Given the description of an element on the screen output the (x, y) to click on. 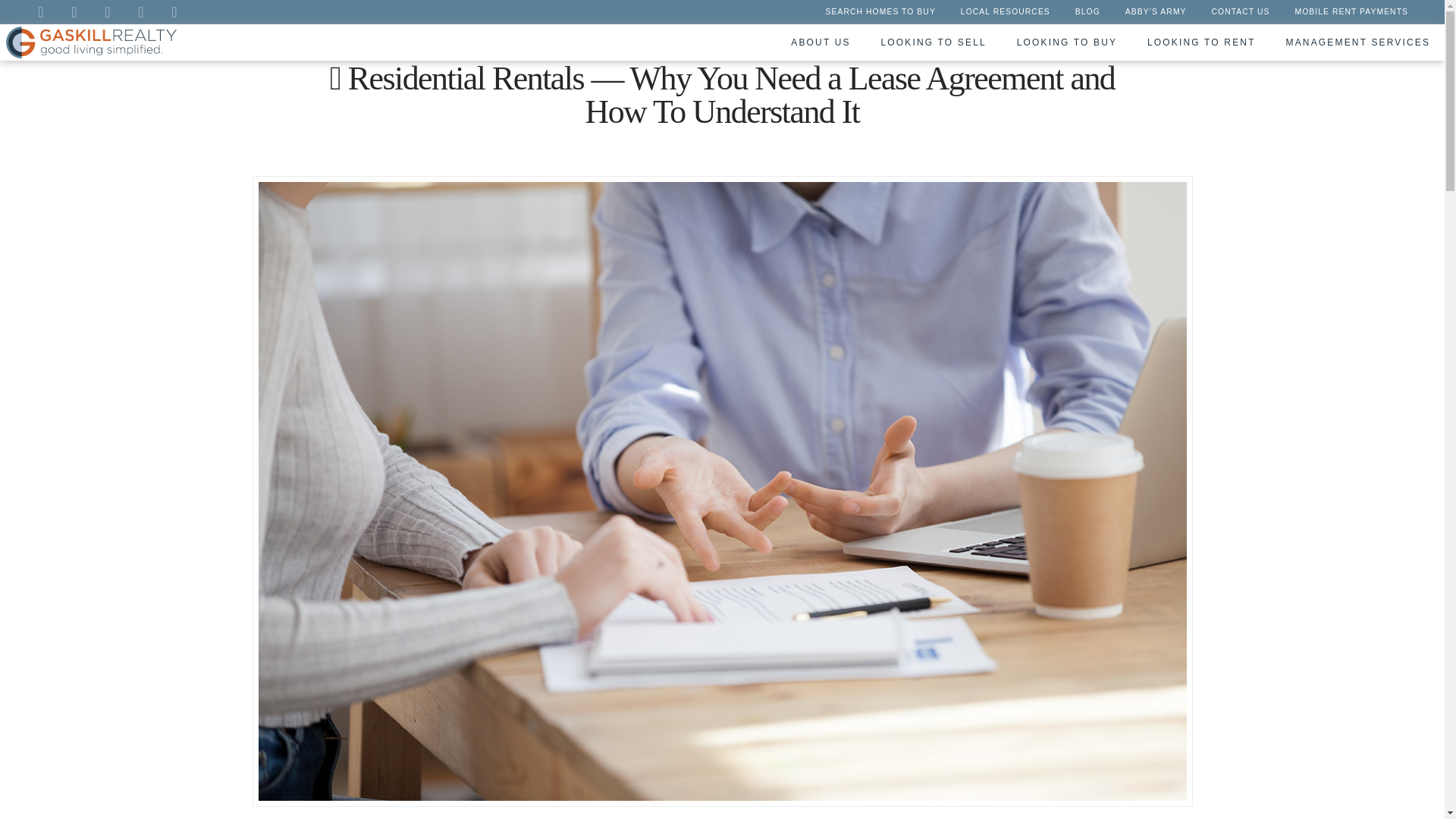
SEARCH HOMES TO BUY (879, 14)
CONTACT US (1240, 14)
LOOKING TO SELL (932, 42)
BLOG (1087, 14)
LOCAL RESOURCES (1004, 14)
LOOKING TO RENT (1200, 42)
LOOKING TO BUY (1066, 42)
MOBILE RENT PAYMENTS (1351, 14)
ABOUT US (819, 42)
